Given the description of an element on the screen output the (x, y) to click on. 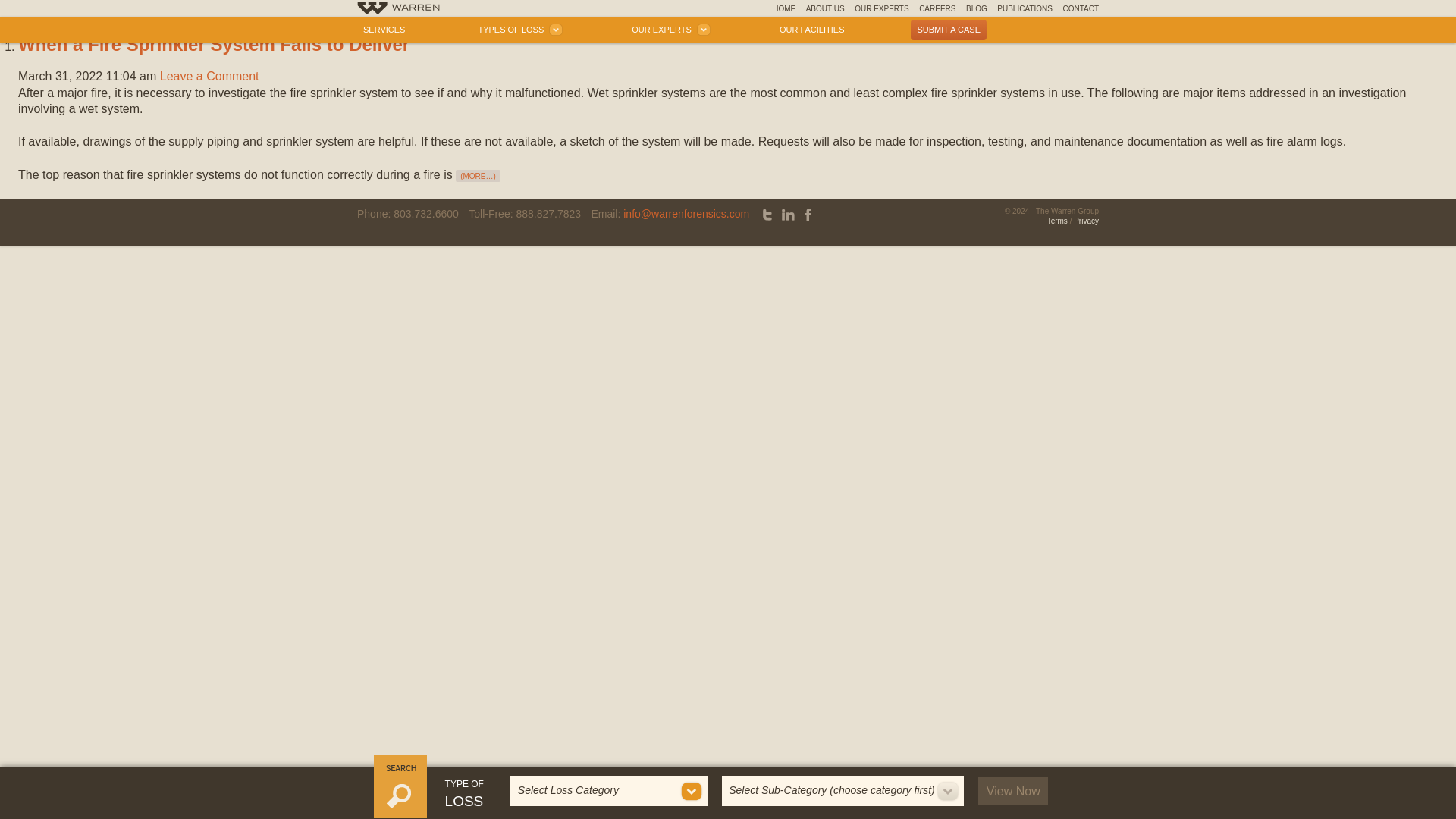
Warren Forensics (397, 8)
CONTACT (1080, 8)
ABOUT US (825, 8)
OUR EXPERTS (669, 29)
HOME (783, 8)
OUR FACILITIES (811, 29)
SERVICES (383, 29)
SUBMIT A CASE (949, 29)
TYPES OF LOSS (517, 29)
OUR EXPERTS (881, 8)
PUBLICATIONS (1024, 8)
Permalink to When a Fire Sprinkler System Fails to Deliver (213, 44)
BLOG (976, 8)
CAREERS (936, 8)
